Given the description of an element on the screen output the (x, y) to click on. 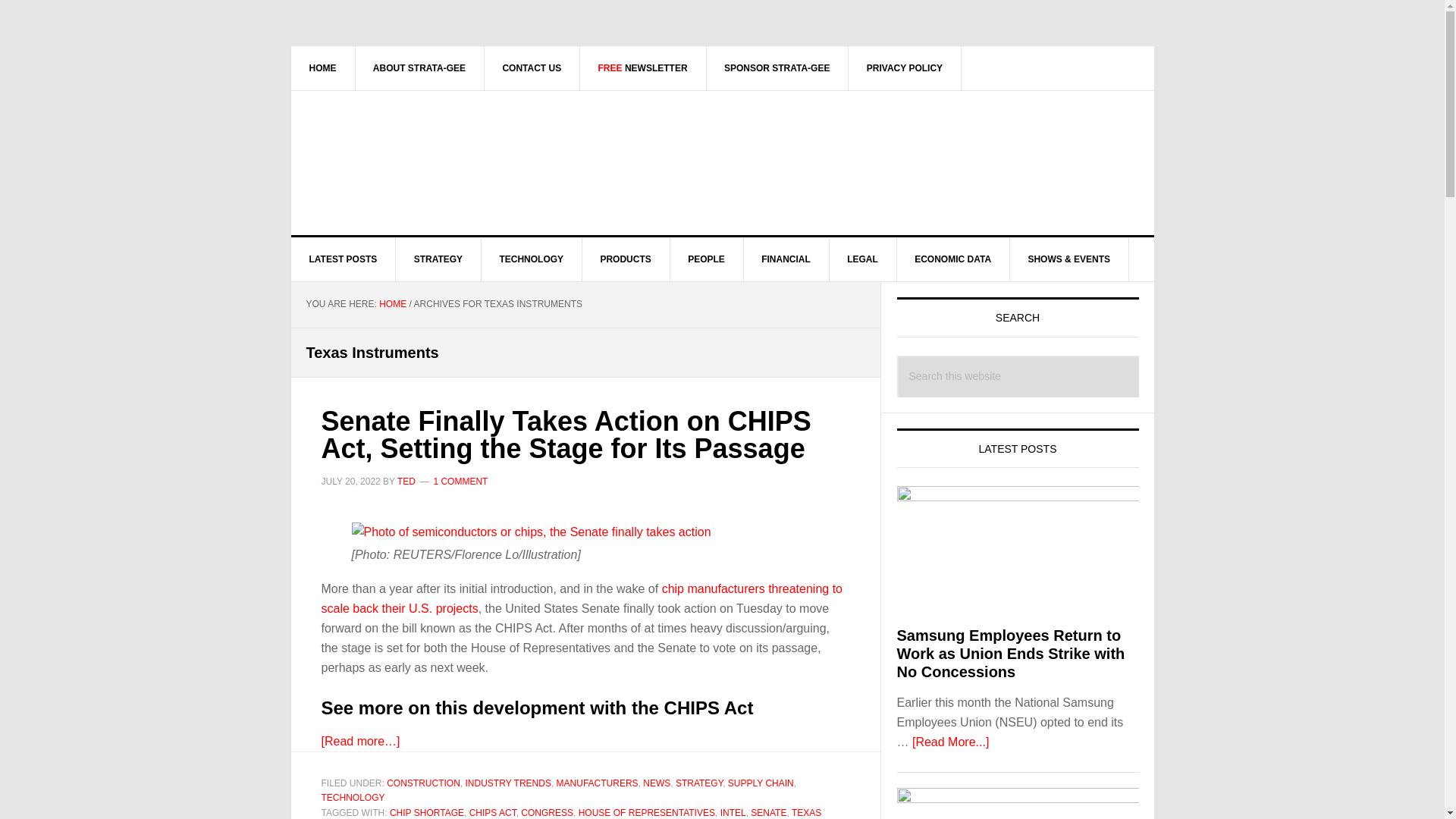
HOME (392, 303)
SUPPLY CHAIN (760, 783)
STRATA-GEE.COM (419, 155)
TECHNOLOGY (353, 797)
PRODUCTS (624, 259)
SPONSOR STRATA-GEE (777, 67)
CONTACT US (531, 67)
HOME (323, 67)
NEWS (656, 783)
